Given the description of an element on the screen output the (x, y) to click on. 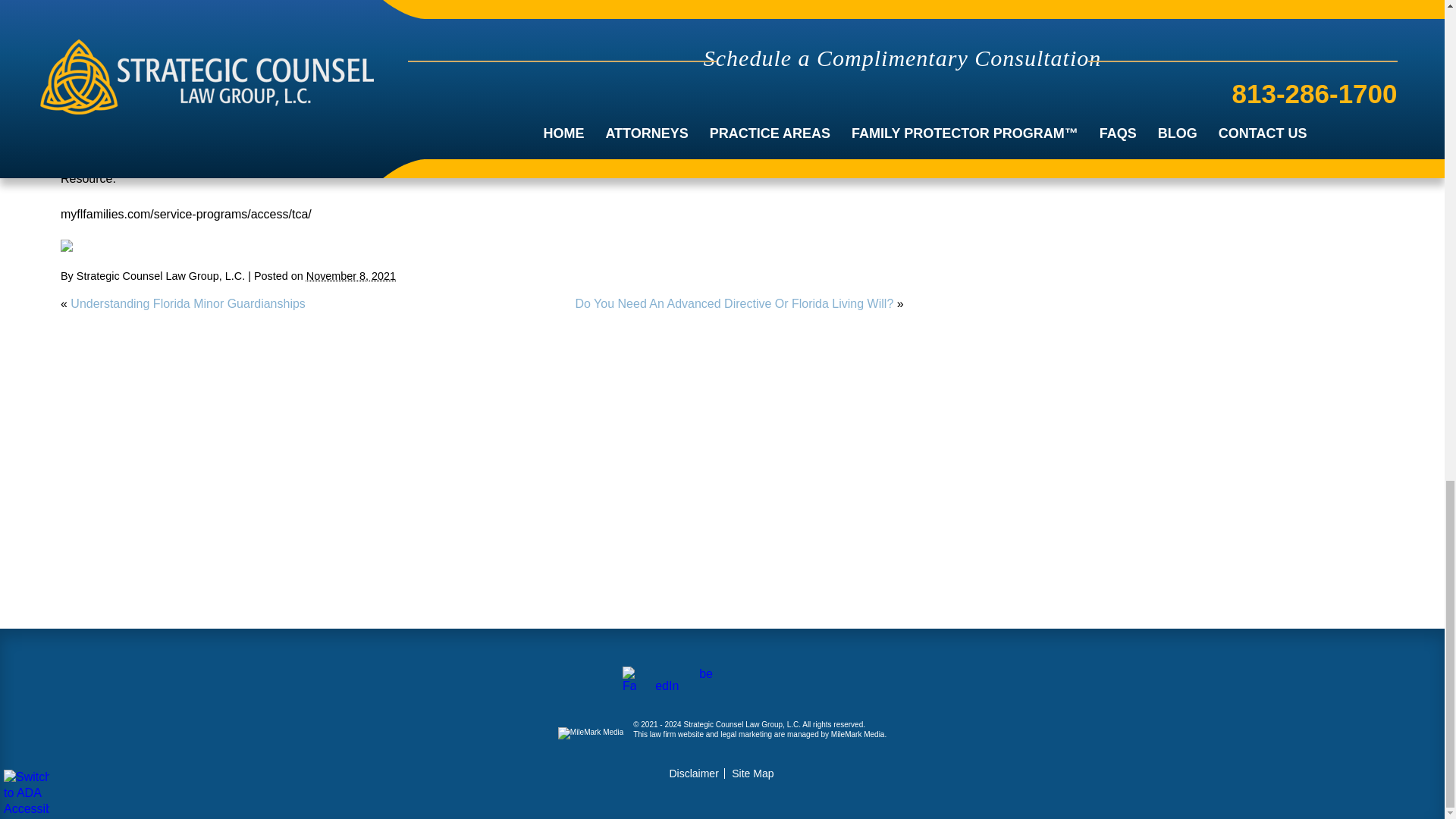
Twitter (76, 245)
LinkedIn (87, 245)
Facebook (66, 245)
2021-11-08T03:00:50-0800 (350, 275)
